Given the description of an element on the screen output the (x, y) to click on. 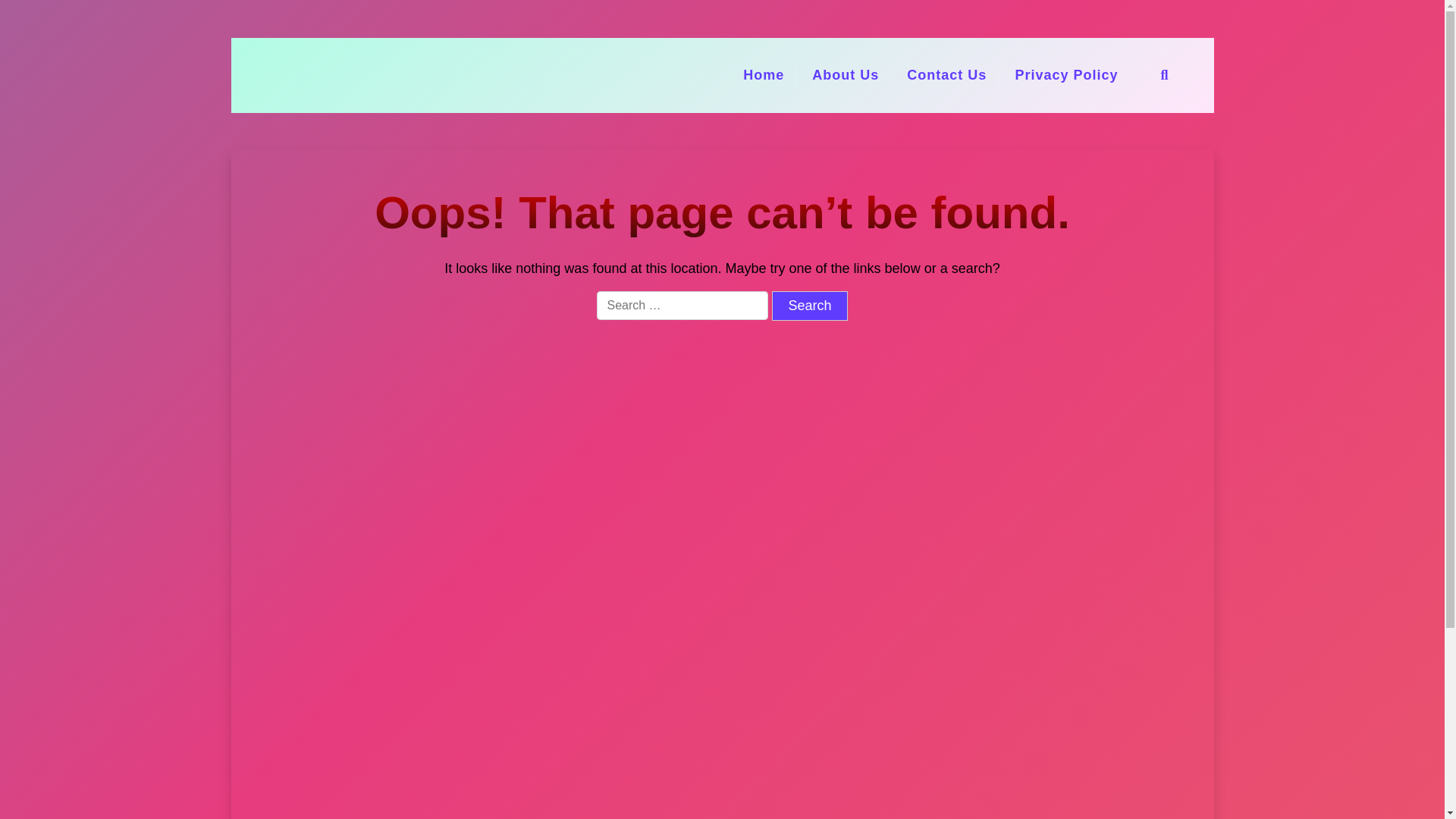
Privacy Policy (1066, 75)
Search (809, 306)
Search (809, 306)
Search (809, 306)
Contact Us (946, 75)
About Us (845, 75)
Home (763, 75)
Search (1026, 409)
